Given the description of an element on the screen output the (x, y) to click on. 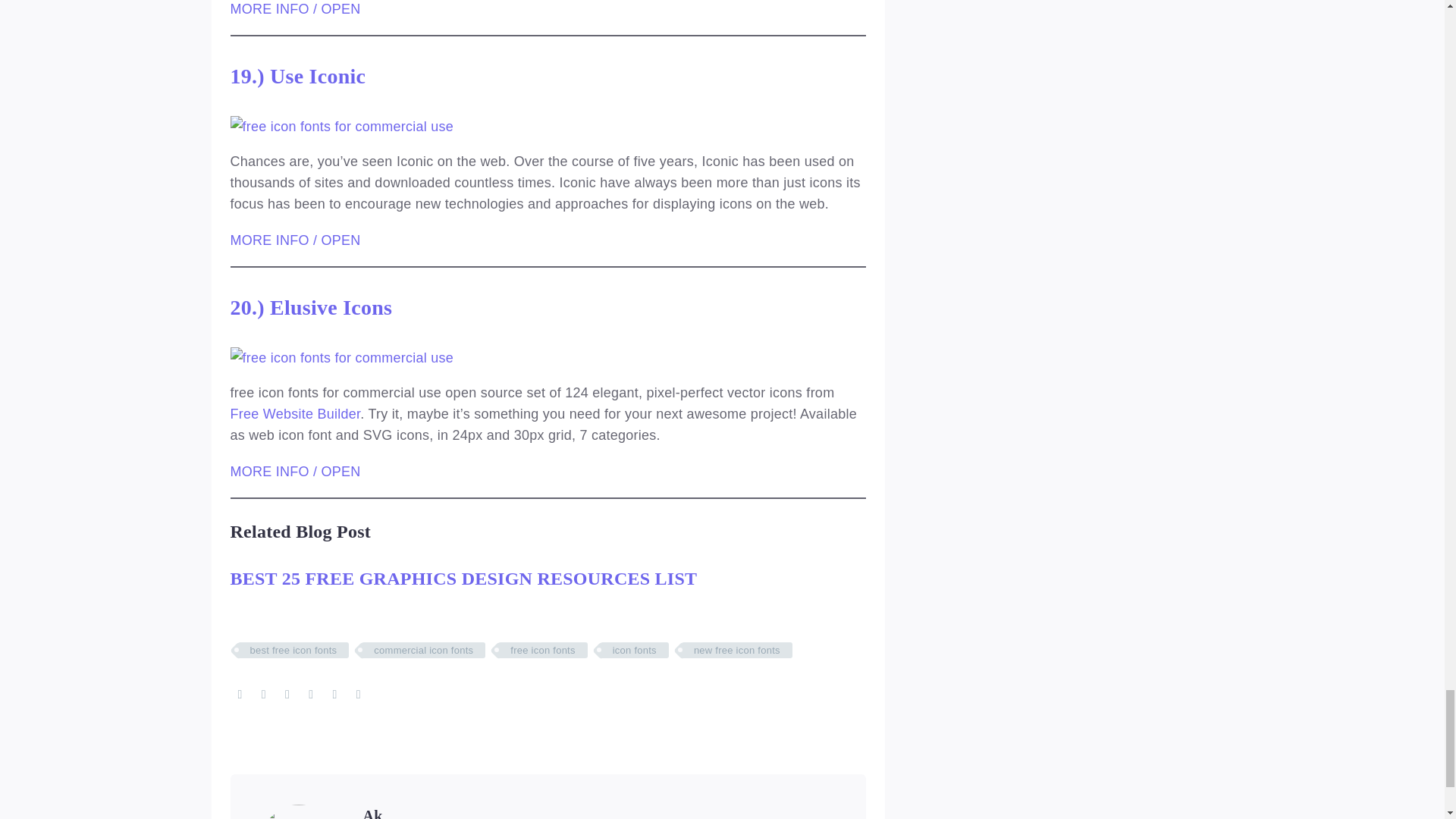
Tumblr (310, 694)
free icon fonts for commercial use (342, 357)
Facebook (239, 694)
Pinterest (287, 694)
Twitter (263, 694)
Reddit (358, 694)
Free Icon Fonts For Commercial Use (342, 126)
LinkedIn (334, 694)
